Given the description of an element on the screen output the (x, y) to click on. 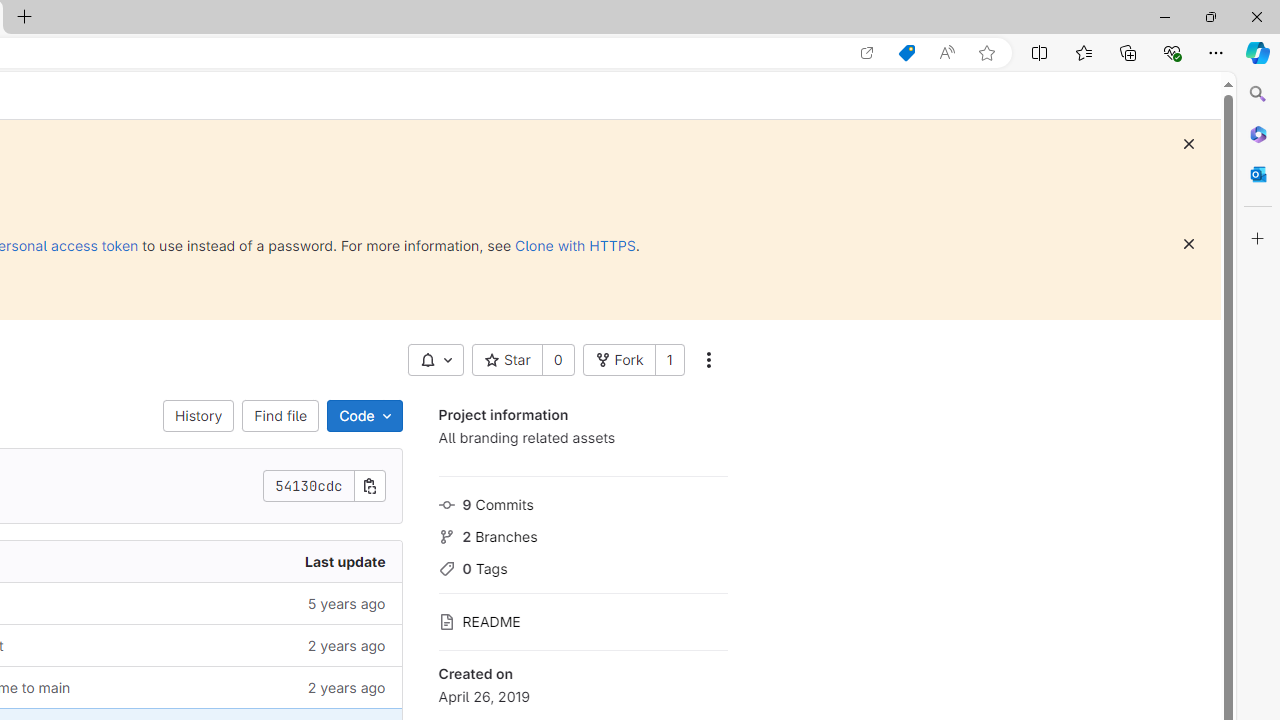
1 (669, 359)
Shopping in Microsoft Edge (906, 53)
Fork (618, 359)
AutomationID: __BVID__301__BV_toggle_ (435, 359)
Find file (280, 416)
Class: s16 icon gl-mr-3 gl-text-gray-500 (445, 622)
0 (557, 359)
0 Tags (582, 566)
Dismiss (1188, 243)
2 Branches (582, 534)
README (582, 620)
